Given the description of an element on the screen output the (x, y) to click on. 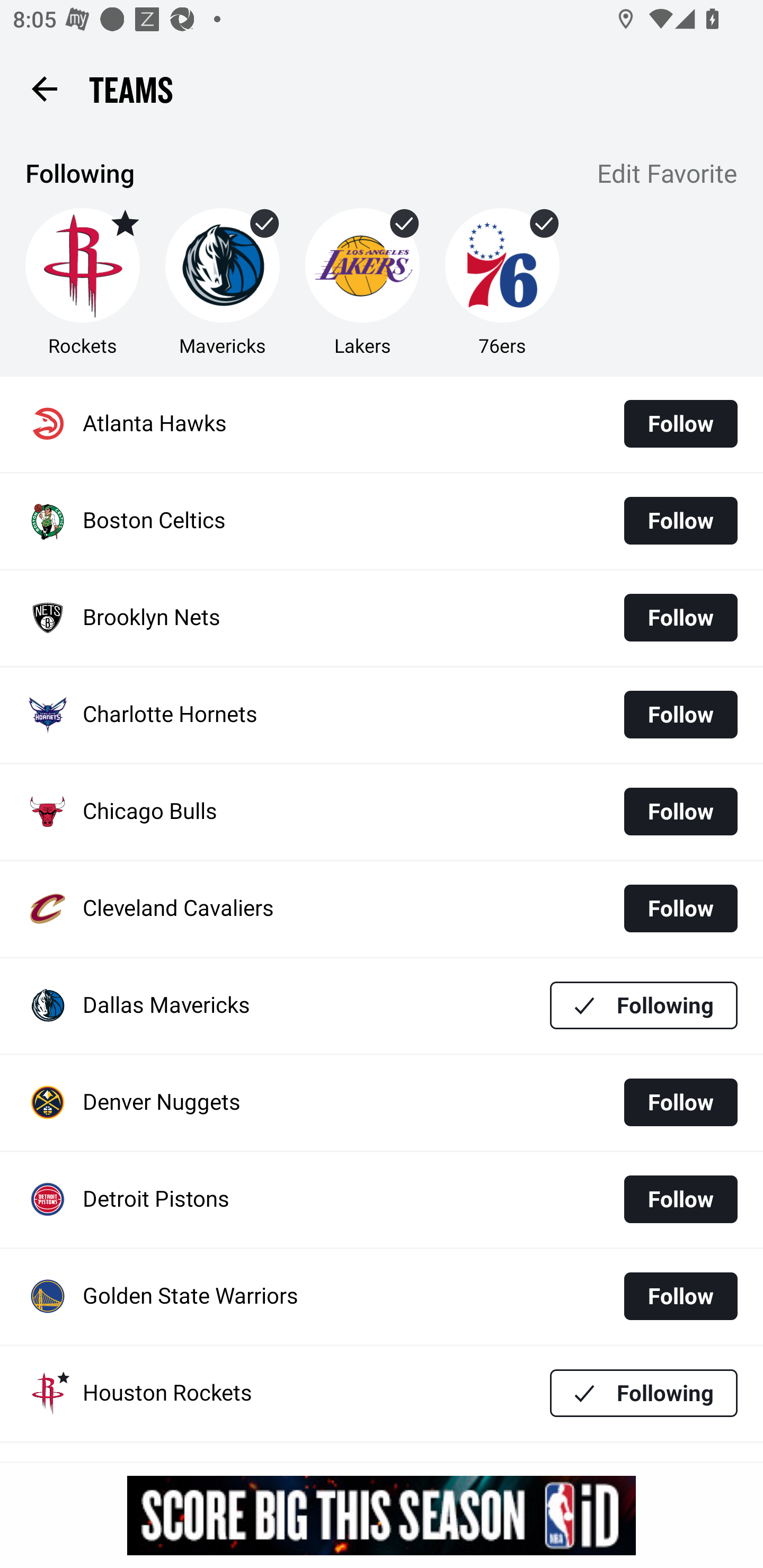
Back button (44, 88)
Edit Favorite (667, 175)
Atlanta Hawks Follow (381, 423)
Follow (680, 423)
Boston Celtics Follow (381, 521)
Follow (680, 520)
Brooklyn Nets Follow (381, 618)
Follow (680, 617)
Charlotte Hornets Follow (381, 714)
Follow (680, 713)
Chicago Bulls Follow (381, 812)
Follow (680, 811)
Cleveland Cavaliers Follow (381, 908)
Follow (680, 908)
Dallas Mavericks Following (381, 1005)
Following (643, 1005)
Denver Nuggets Follow (381, 1102)
Follow (680, 1101)
Detroit Pistons Follow (381, 1200)
Follow (680, 1199)
Golden State Warriors Follow (381, 1296)
Follow (680, 1295)
Houston Rockets Following (381, 1392)
Following (643, 1392)
g5nqqygr7owph (381, 1515)
